Given the description of an element on the screen output the (x, y) to click on. 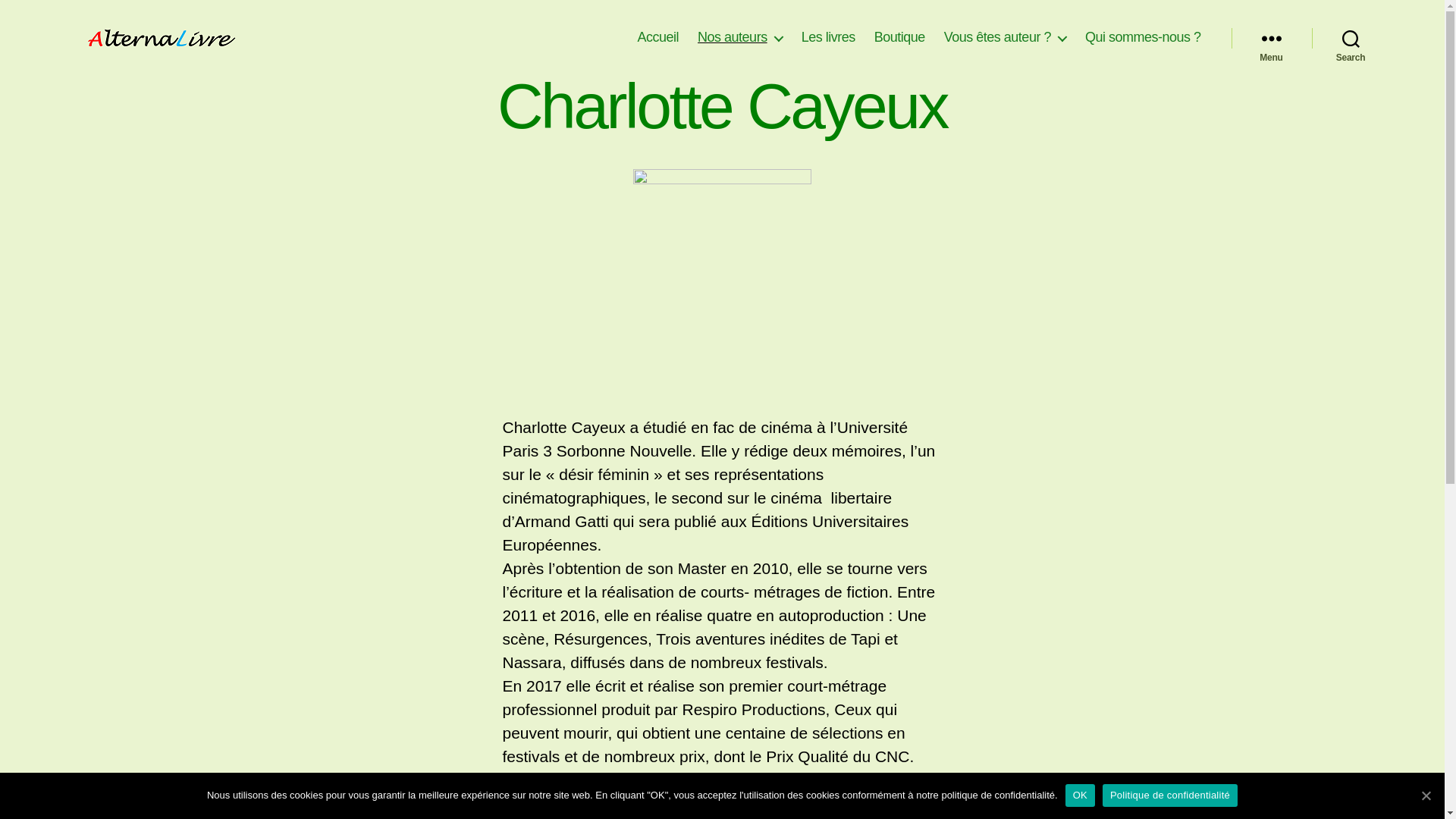
Les livres Element type: text (828, 37)
Boutique Element type: text (899, 37)
Qui sommes-nous ? Element type: text (1143, 37)
Menu Element type: text (1271, 37)
Accueil Element type: text (658, 37)
OK Element type: text (1080, 795)
Search Element type: text (1350, 37)
Nos auteurs Element type: text (739, 37)
